Given the description of an element on the screen output the (x, y) to click on. 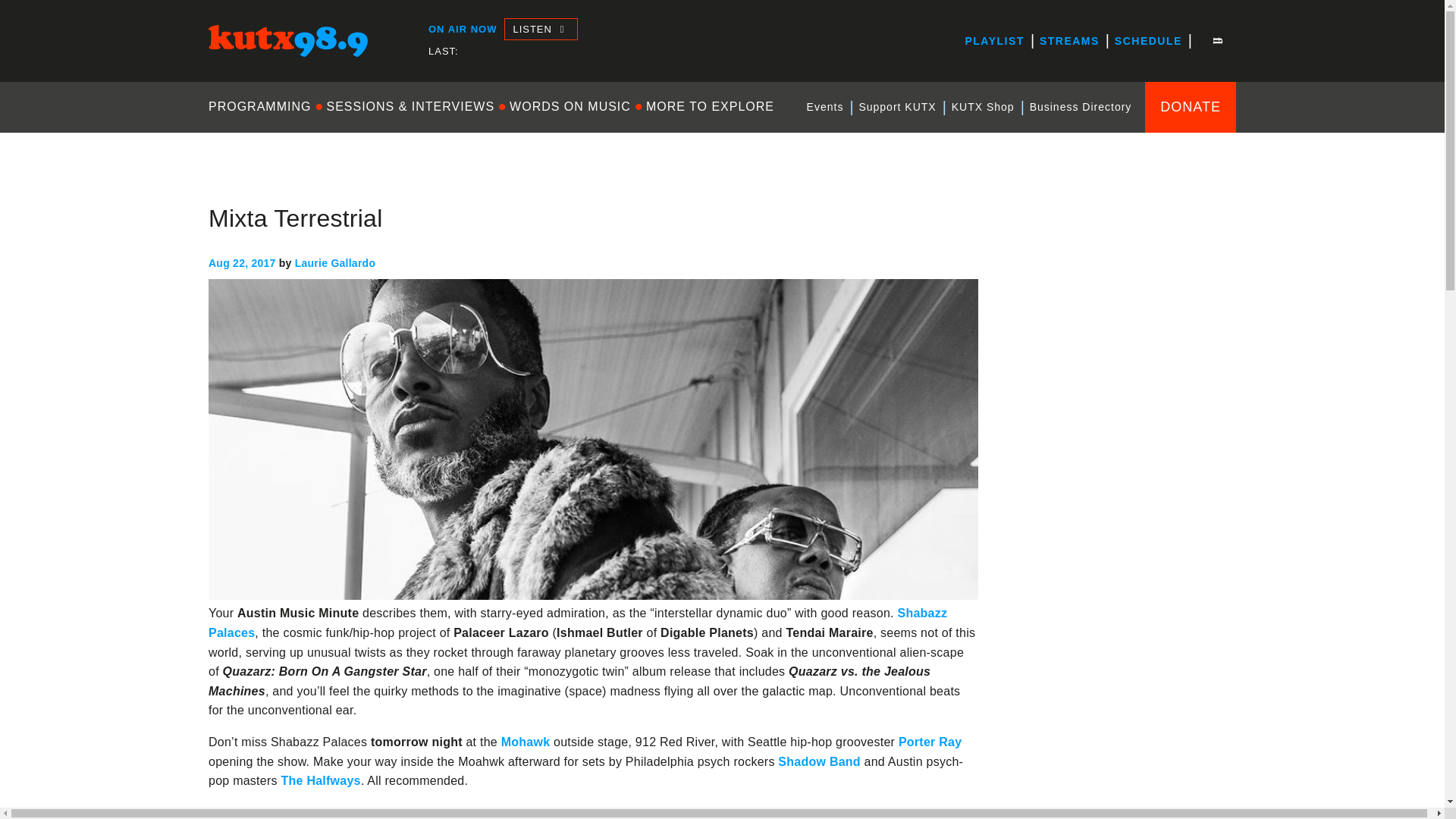
PROGRAMMING (263, 106)
Events (825, 106)
KUTX (224, 69)
KUTX Shop (982, 106)
MORE TO EXPLORE (710, 106)
PLAYLIST (993, 40)
SCHEDULE (1147, 40)
WORDS ON MUSIC (570, 106)
Business Directory (1081, 106)
STREAMS (1069, 40)
